Given the description of an element on the screen output the (x, y) to click on. 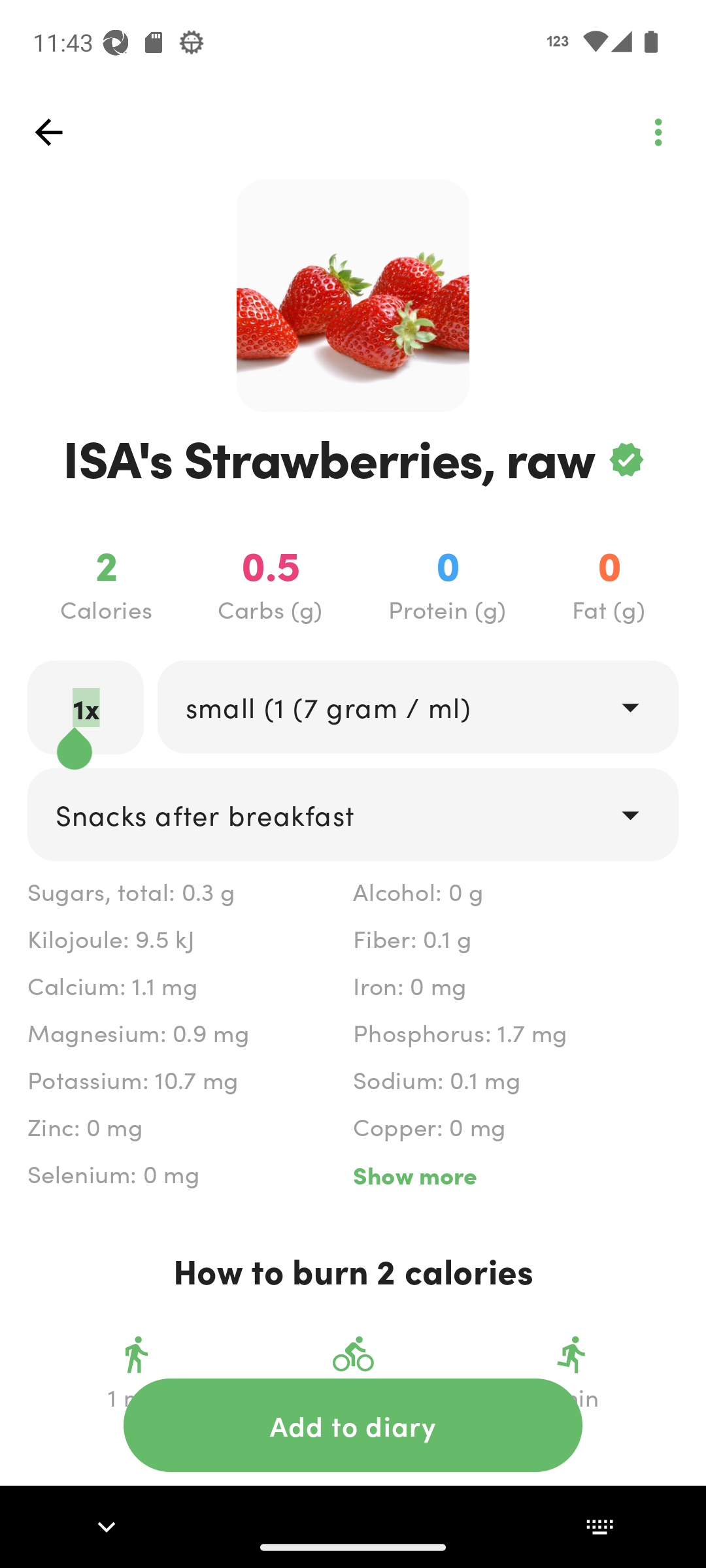
top_left_action (48, 132)
top_left_action (658, 132)
1x labeled_edit_text (85, 707)
drop_down small (1 (7 gram / ml) (417, 706)
drop_down Snacks after breakfast (352, 814)
Show more (515, 1174)
action_button Add to diary (352, 1425)
